Given the description of an element on the screen output the (x, y) to click on. 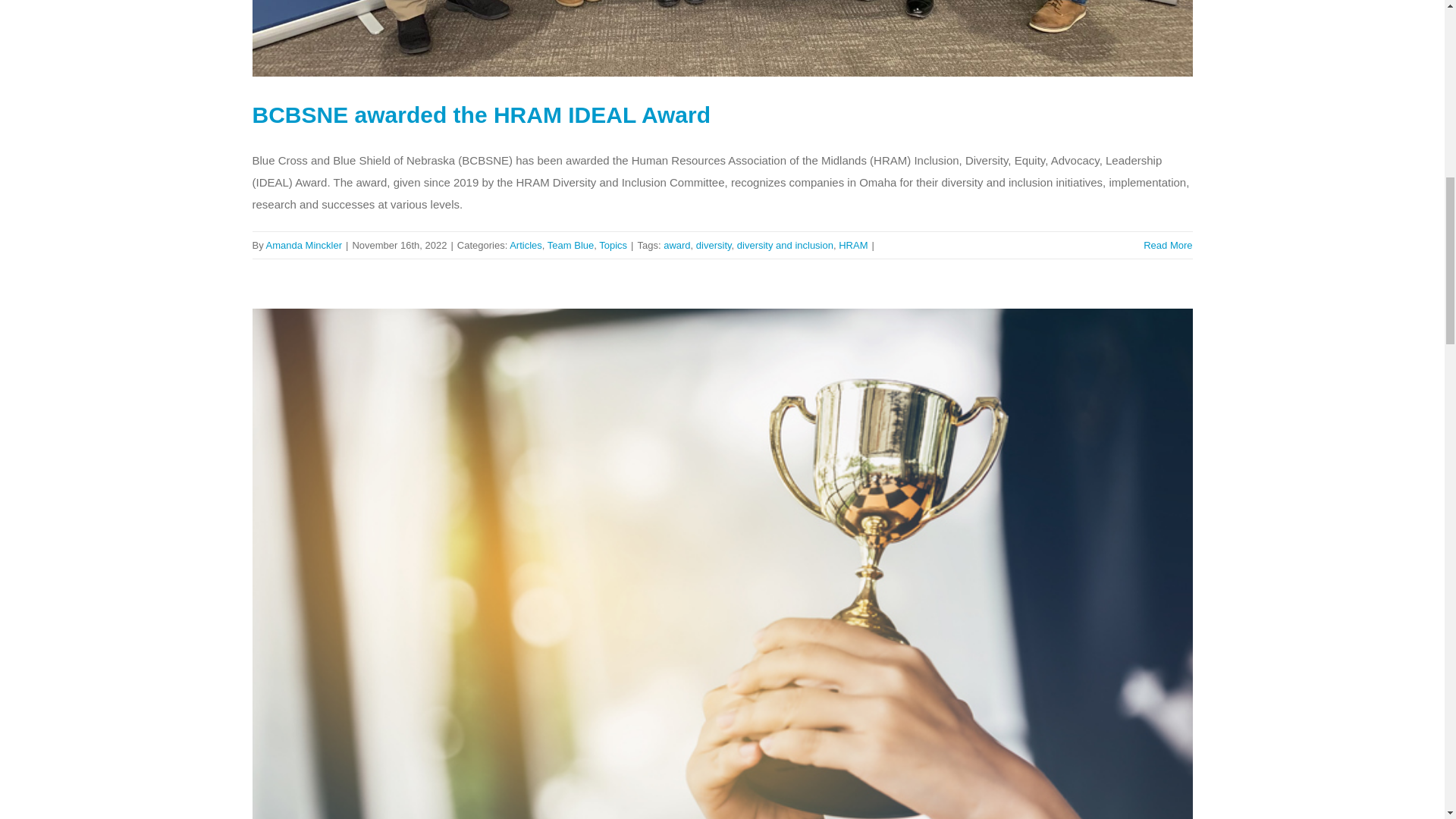
Articles (525, 244)
diversity (713, 244)
BCBSNE awarded the HRAM IDEAL Award (480, 114)
award (676, 244)
HRAM (852, 244)
Team Blue (570, 244)
Read More (1167, 244)
Amanda Minckler (304, 244)
Topics (612, 244)
Posts by Amanda Minckler (304, 244)
diversity and inclusion (784, 244)
